Given the description of an element on the screen output the (x, y) to click on. 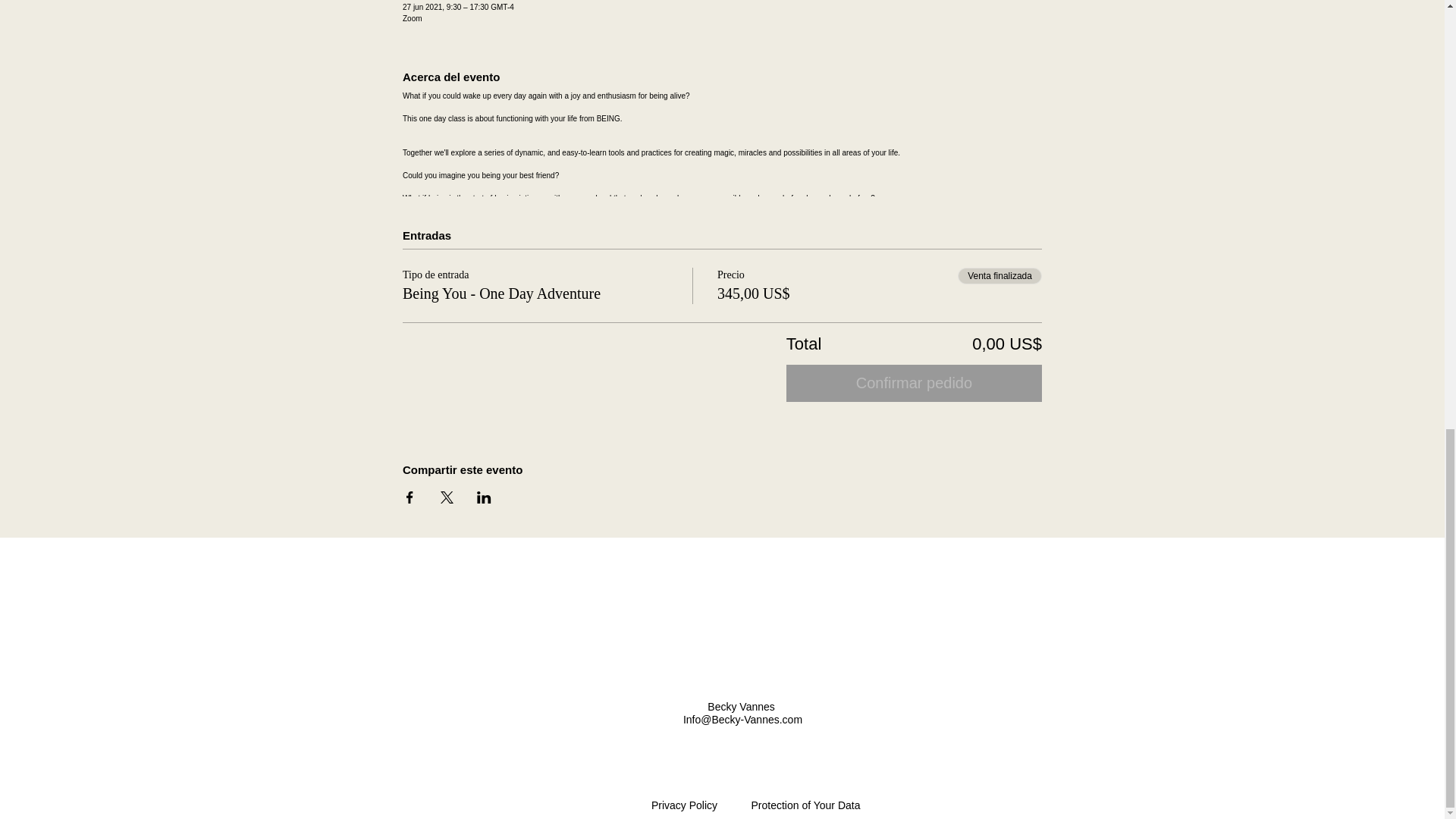
Confirmar pedido (914, 383)
Protection of Your Data (804, 805)
